Given the description of an element on the screen output the (x, y) to click on. 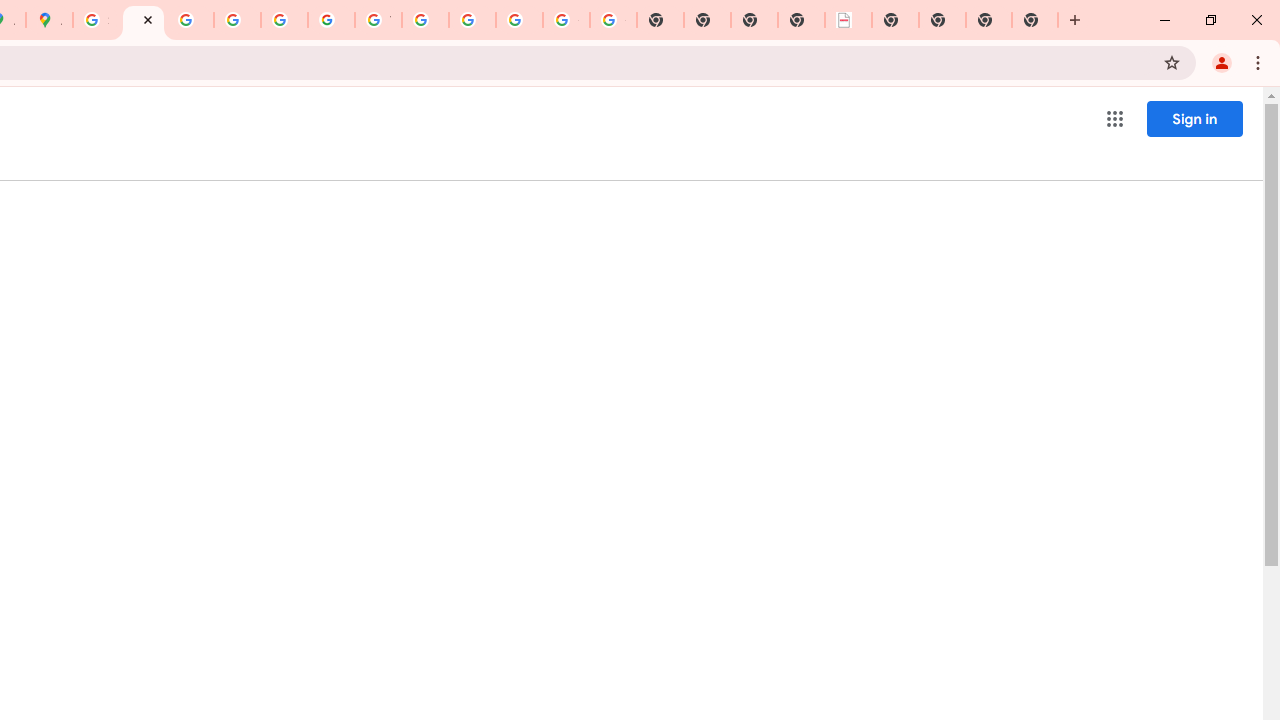
Privacy Help Center - Policies Help (237, 20)
New Tab (989, 20)
LAAD Defence & Security 2025 | BAE Systems (848, 20)
YouTube (377, 20)
Privacy Help Center - Policies Help (189, 20)
New Tab (895, 20)
